Given the description of an element on the screen output the (x, y) to click on. 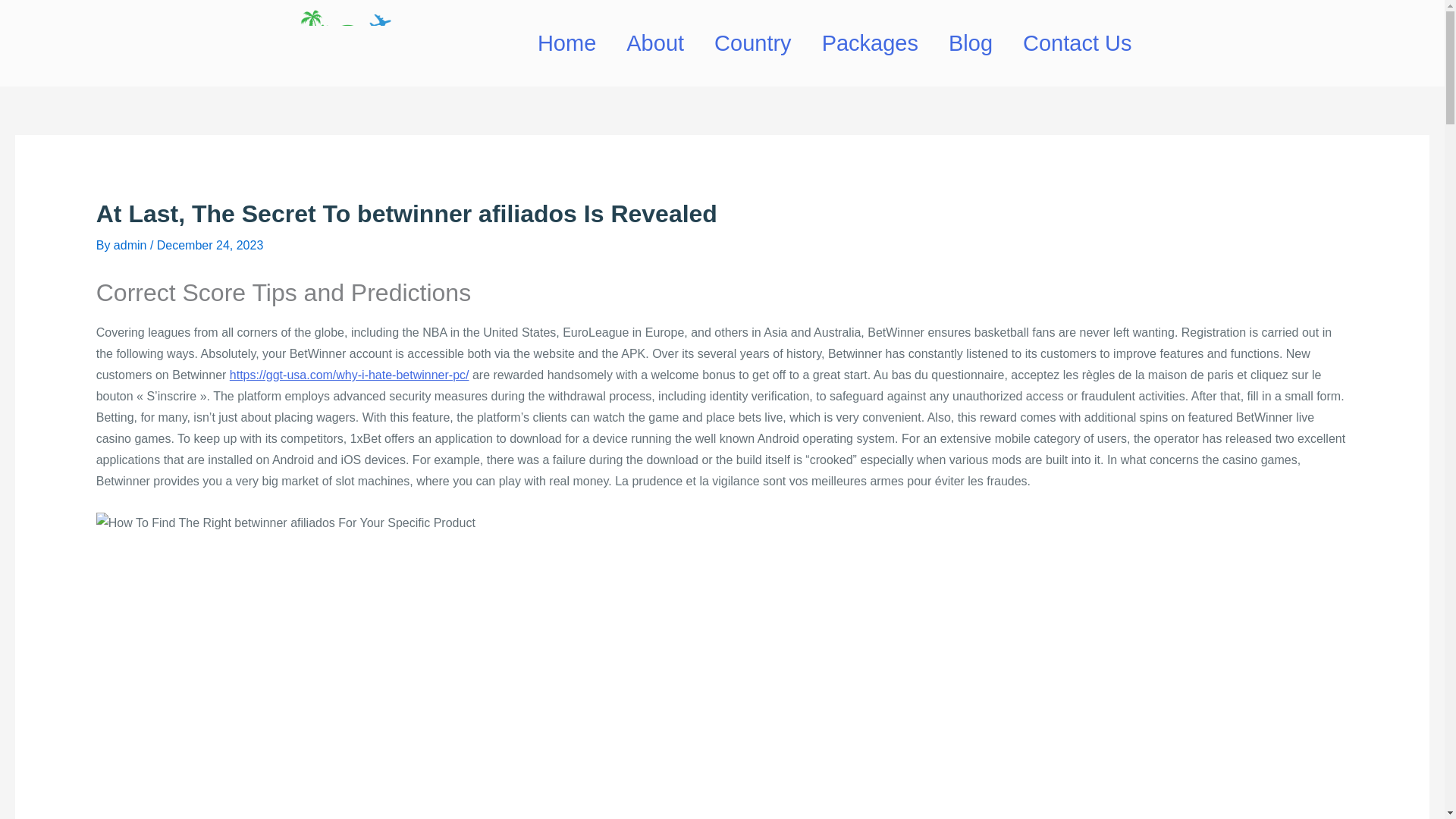
Country (752, 42)
Packages (869, 42)
Blog (970, 42)
About (654, 42)
View all posts by admin (131, 245)
Contact Us (1077, 42)
Home (566, 42)
Lies And Damn Lies About betwinner afiliados (286, 522)
